Given the description of an element on the screen output the (x, y) to click on. 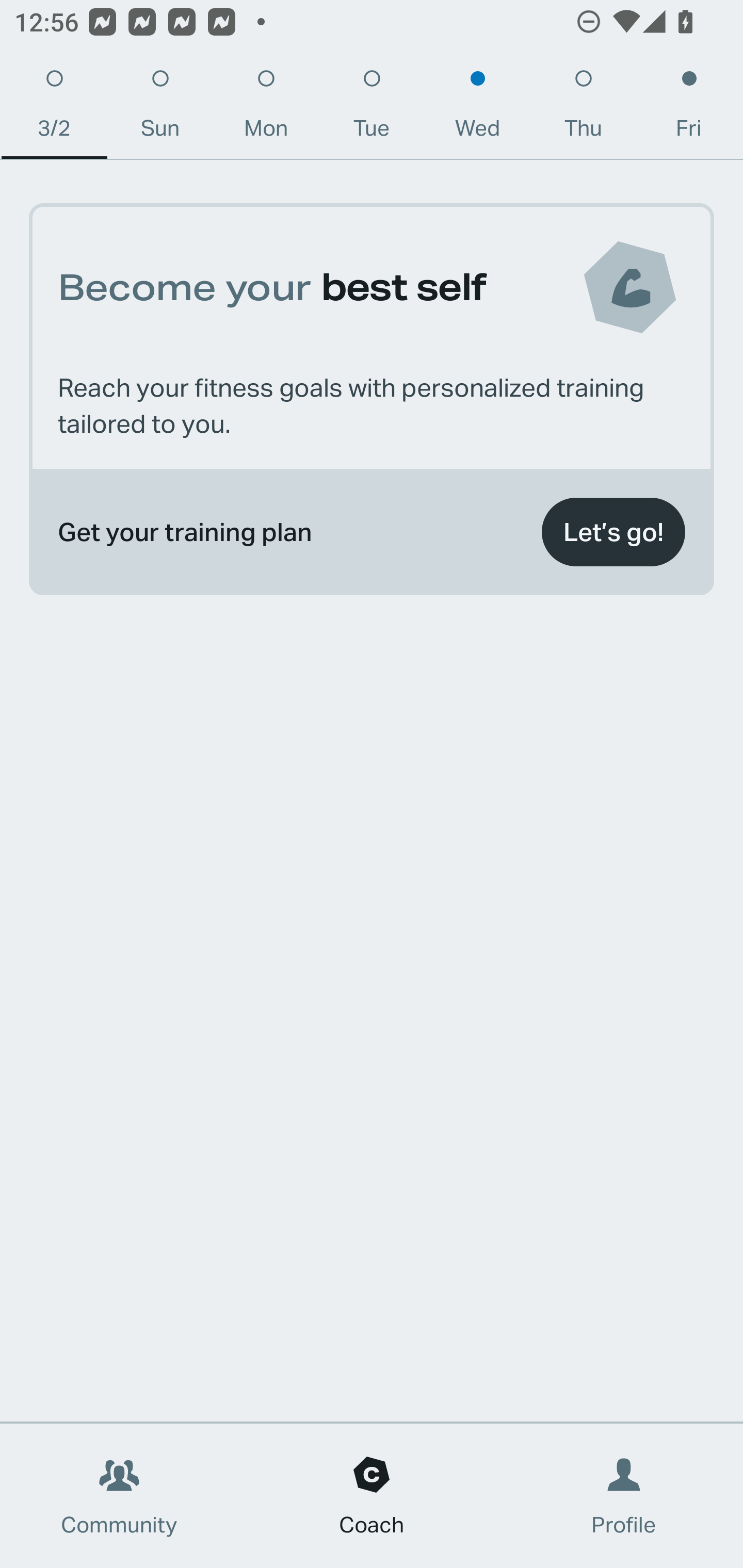
3/2 (53, 108)
Sun (159, 108)
Mon (265, 108)
Tue (371, 108)
Wed (477, 108)
Thu (583, 108)
Fri (689, 108)
Let’s go! (613, 532)
Community (119, 1495)
Profile (624, 1495)
